Given the description of an element on the screen output the (x, y) to click on. 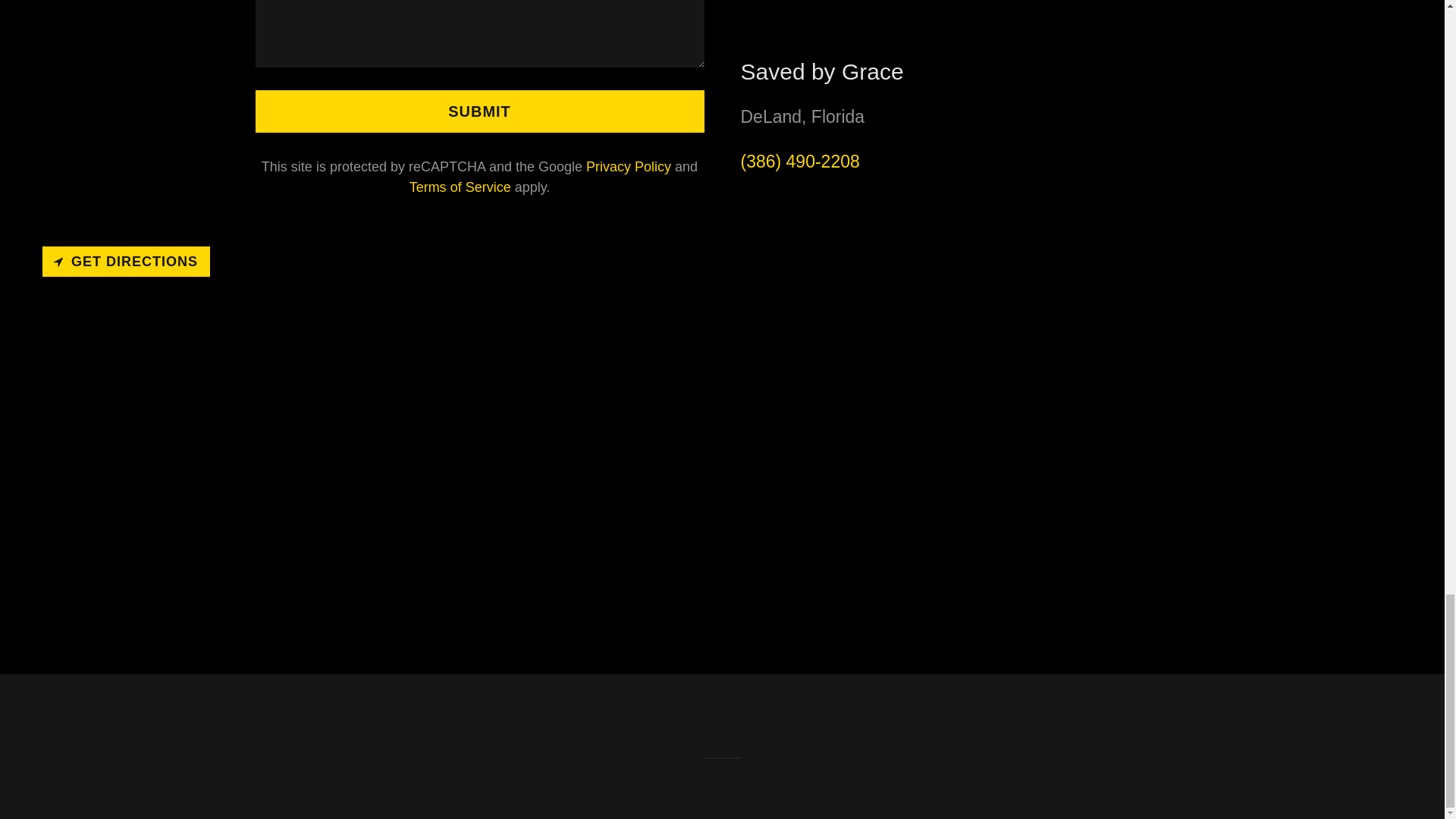
GET DIRECTIONS (125, 261)
Terms of Service (460, 186)
Privacy Policy (628, 166)
SUBMIT (478, 111)
